Given the description of an element on the screen output the (x, y) to click on. 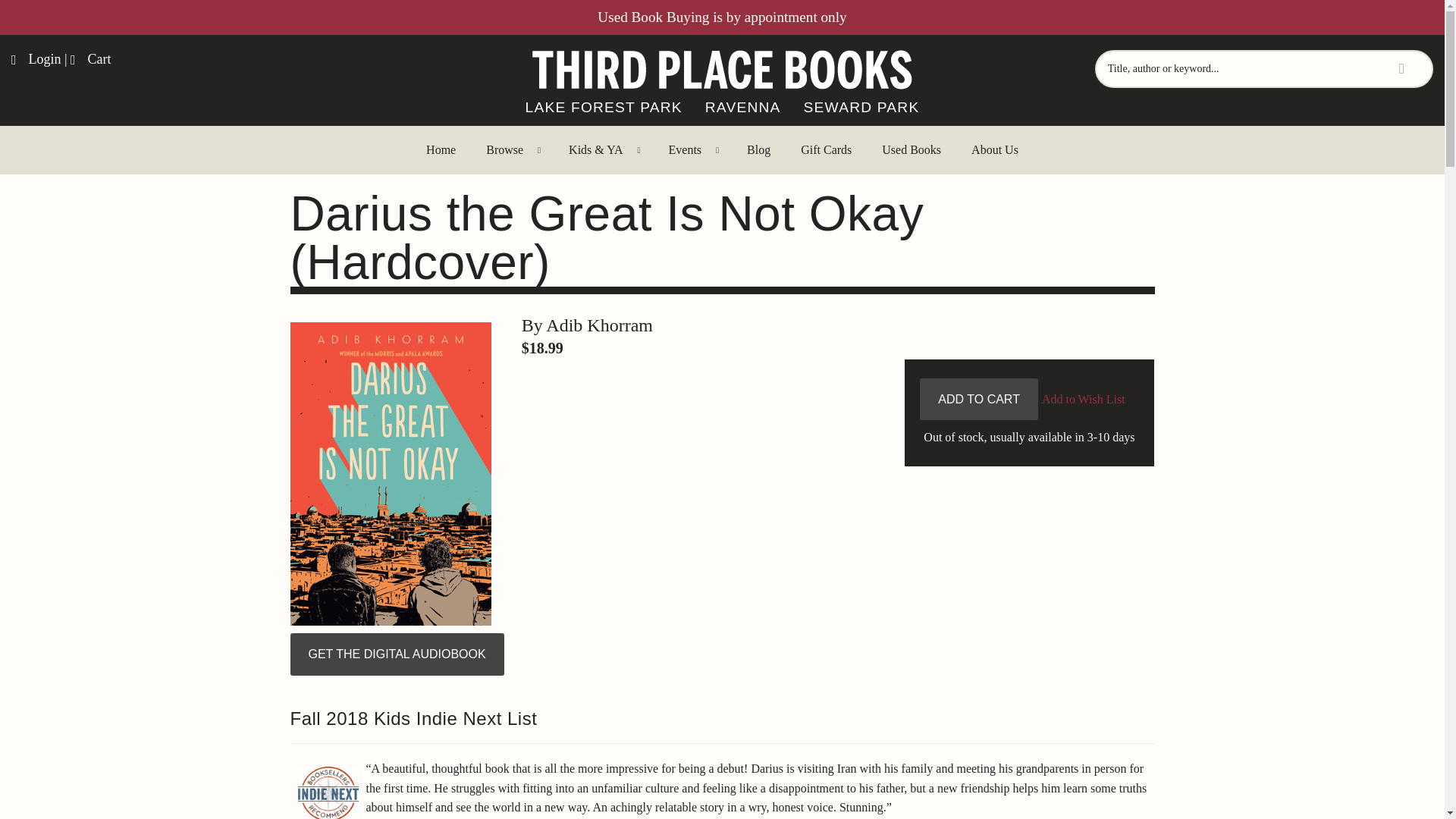
LAKE FOREST PARK (603, 107)
search (32, 19)
Title, author or keyword... (1263, 68)
 Cart (90, 58)
Home (440, 150)
Used Book Buying is by appointment only (720, 17)
Events (692, 150)
SEWARD PARK (861, 107)
Gift Cards (826, 150)
